Given the description of an element on the screen output the (x, y) to click on. 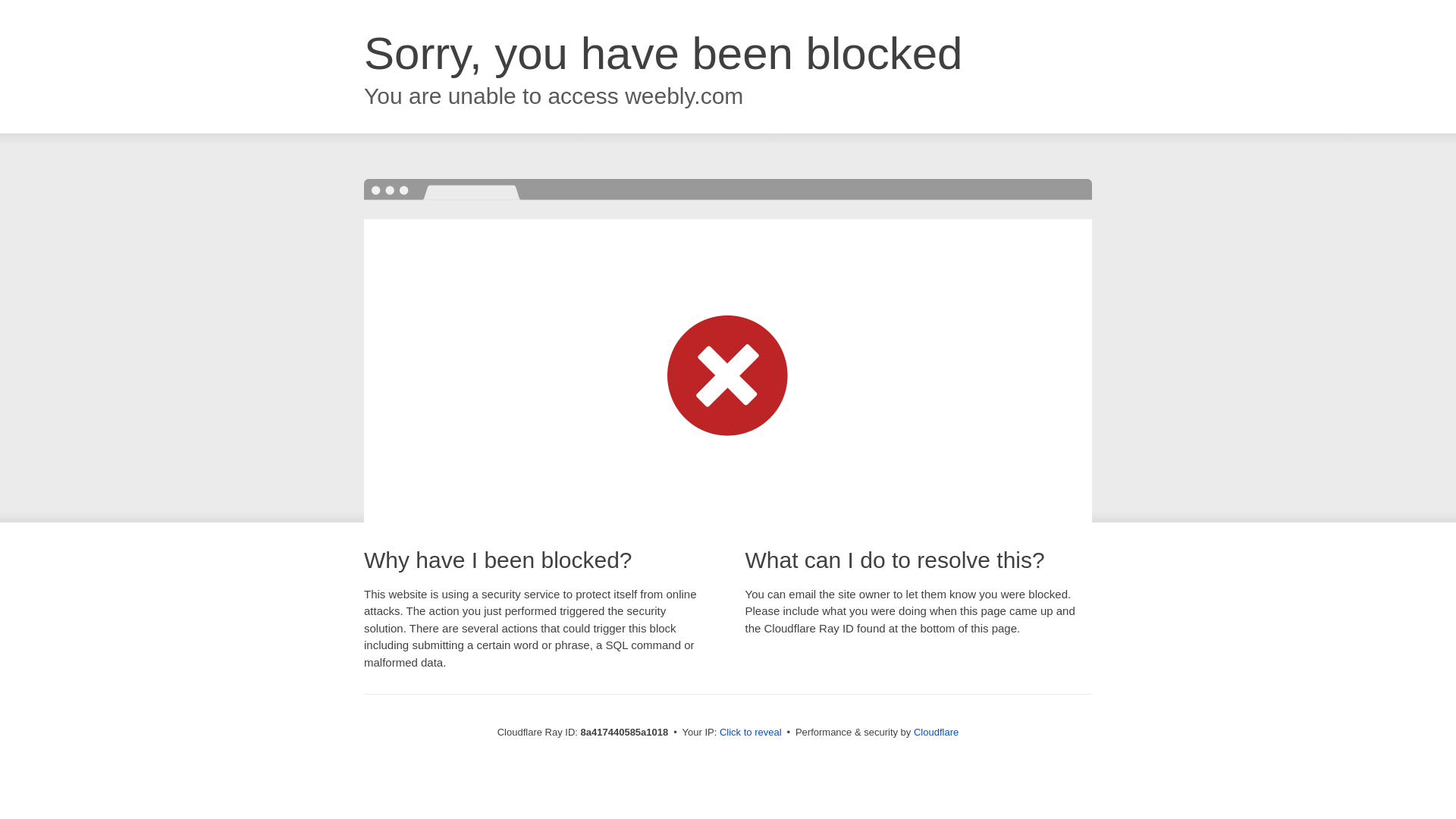
Cloudflare (936, 731)
Click to reveal (750, 732)
